Given the description of an element on the screen output the (x, y) to click on. 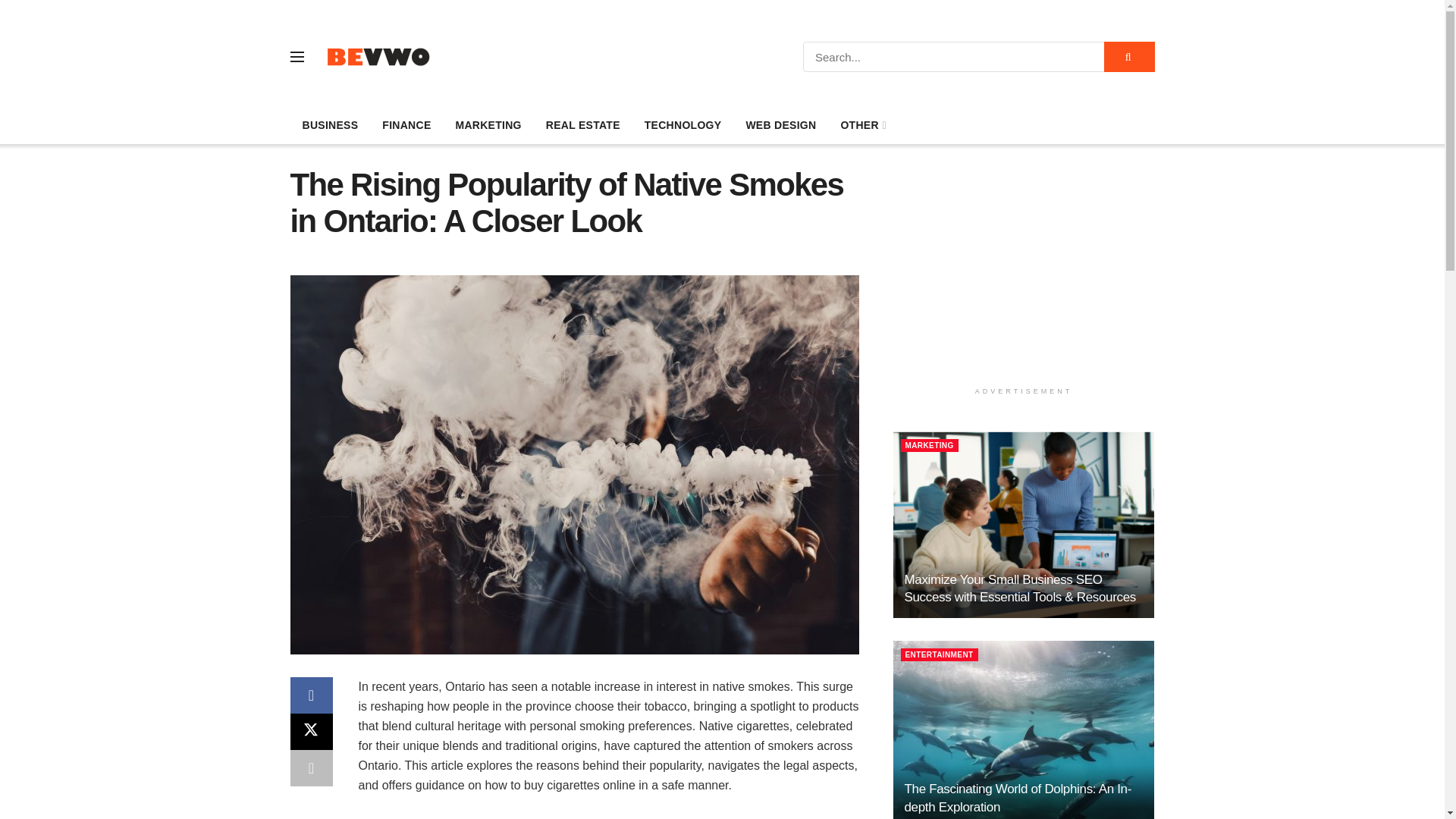
FINANCE (405, 125)
OTHER (862, 125)
Advertisement (1023, 273)
BUSINESS (329, 125)
TECHNOLOGY (682, 125)
WEB DESIGN (780, 125)
REAL ESTATE (582, 125)
MARKETING (487, 125)
